Given the description of an element on the screen output the (x, y) to click on. 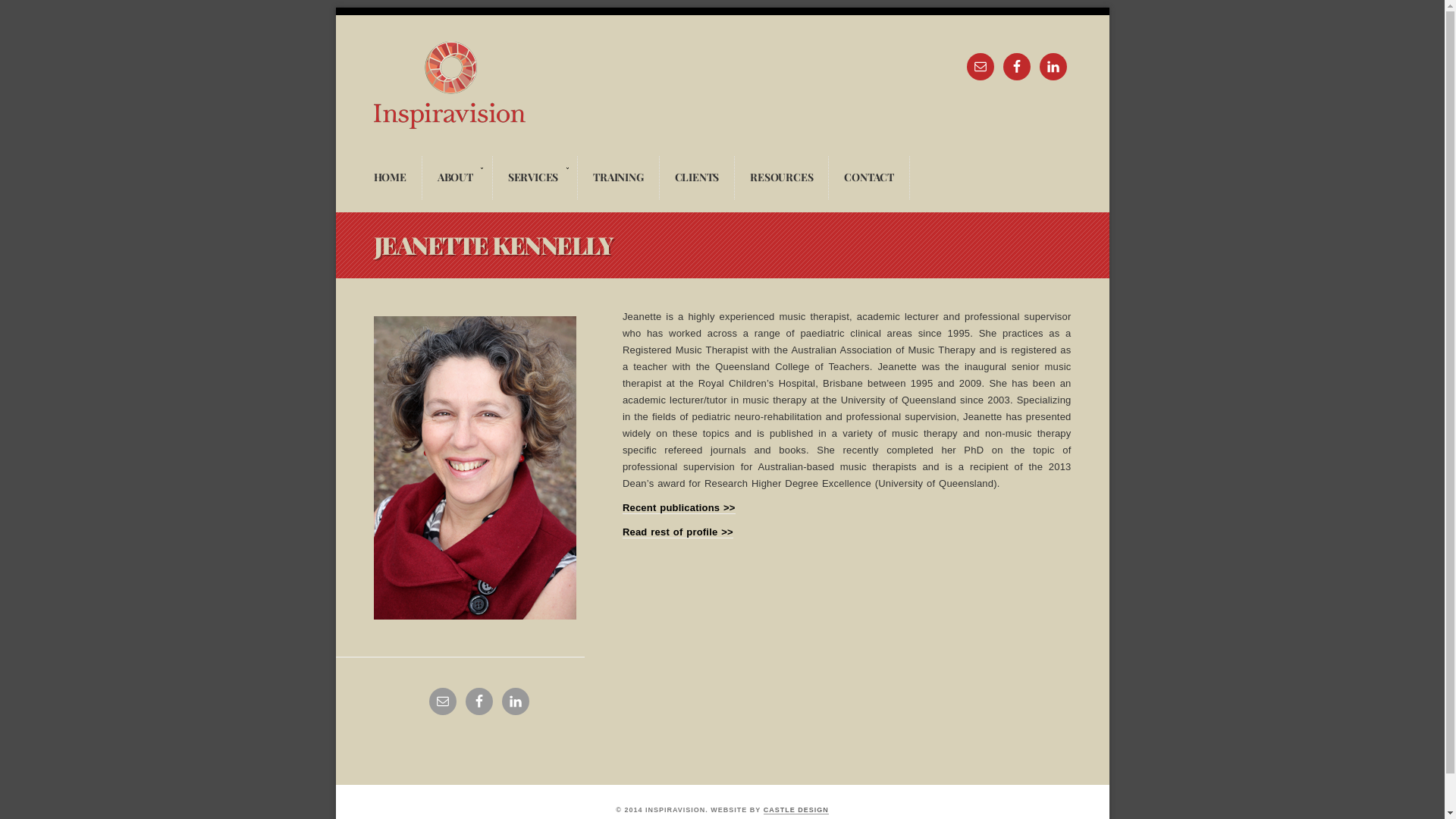
Read rest of profile >> Element type: text (677, 532)
Recent publications >> Element type: text (678, 508)
RESOURCES Element type: text (781, 177)
CLIENTS Element type: text (697, 177)
CASTLE DESIGN Element type: text (795, 810)
CONTACT Element type: text (869, 177)
TRAINING Element type: text (617, 177)
HOME Element type: text (389, 177)
